Given the description of an element on the screen output the (x, y) to click on. 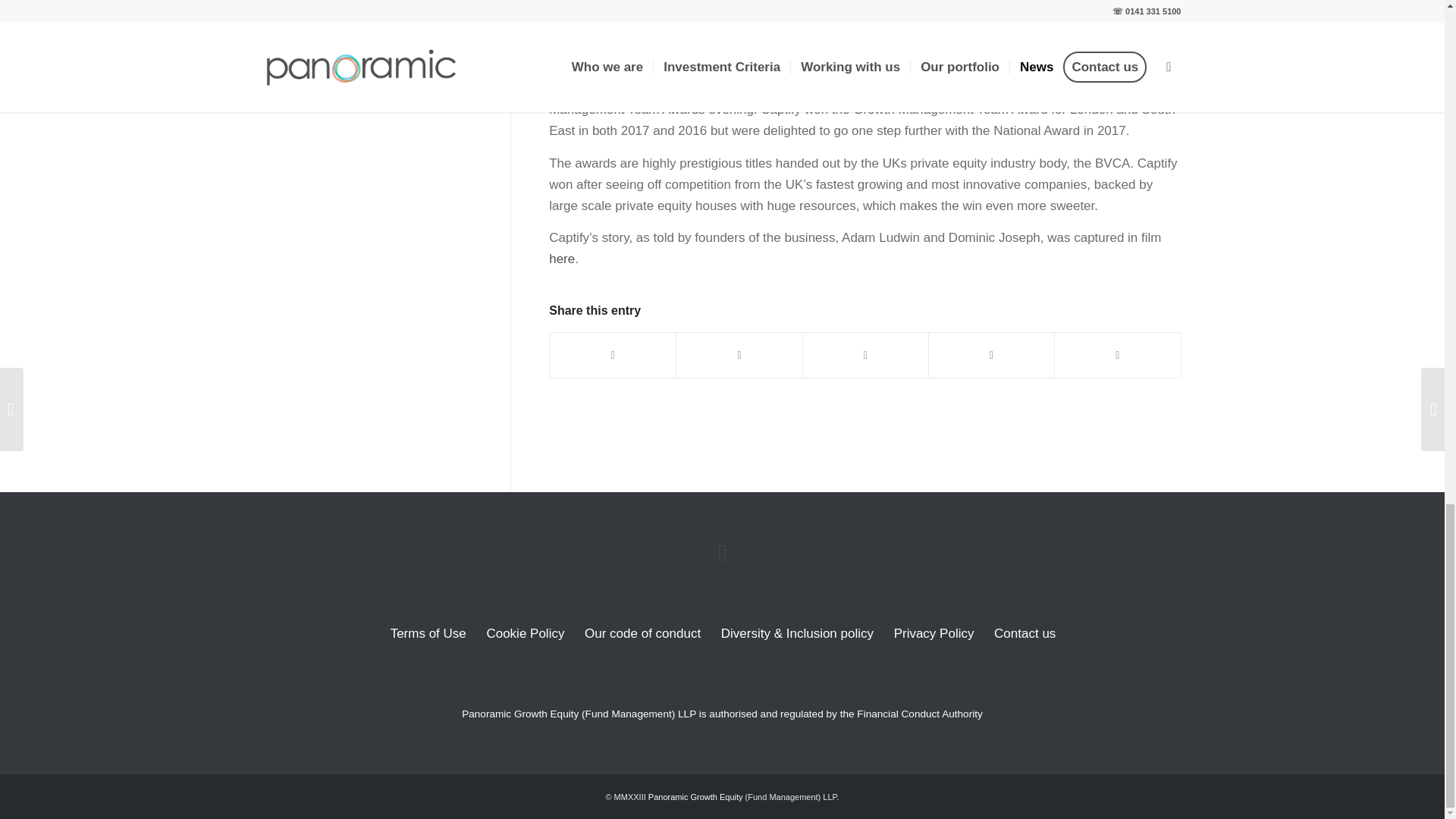
Our code of conduct (641, 633)
here (561, 258)
Terms of Use (427, 633)
Cookie Policy (524, 633)
